Given the description of an element on the screen output the (x, y) to click on. 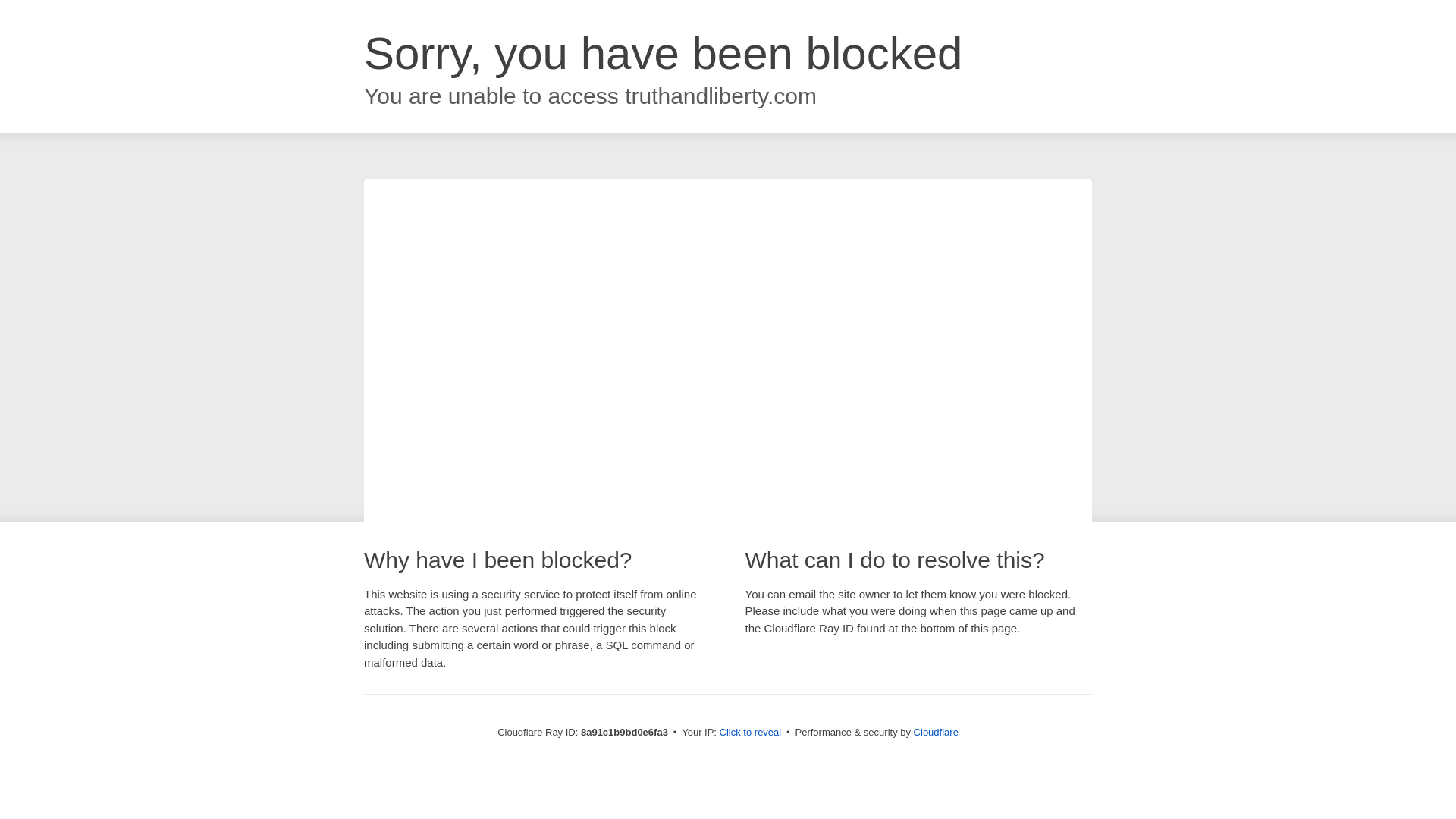
Click to reveal (750, 732)
Cloudflare (936, 731)
